Given the description of an element on the screen output the (x, y) to click on. 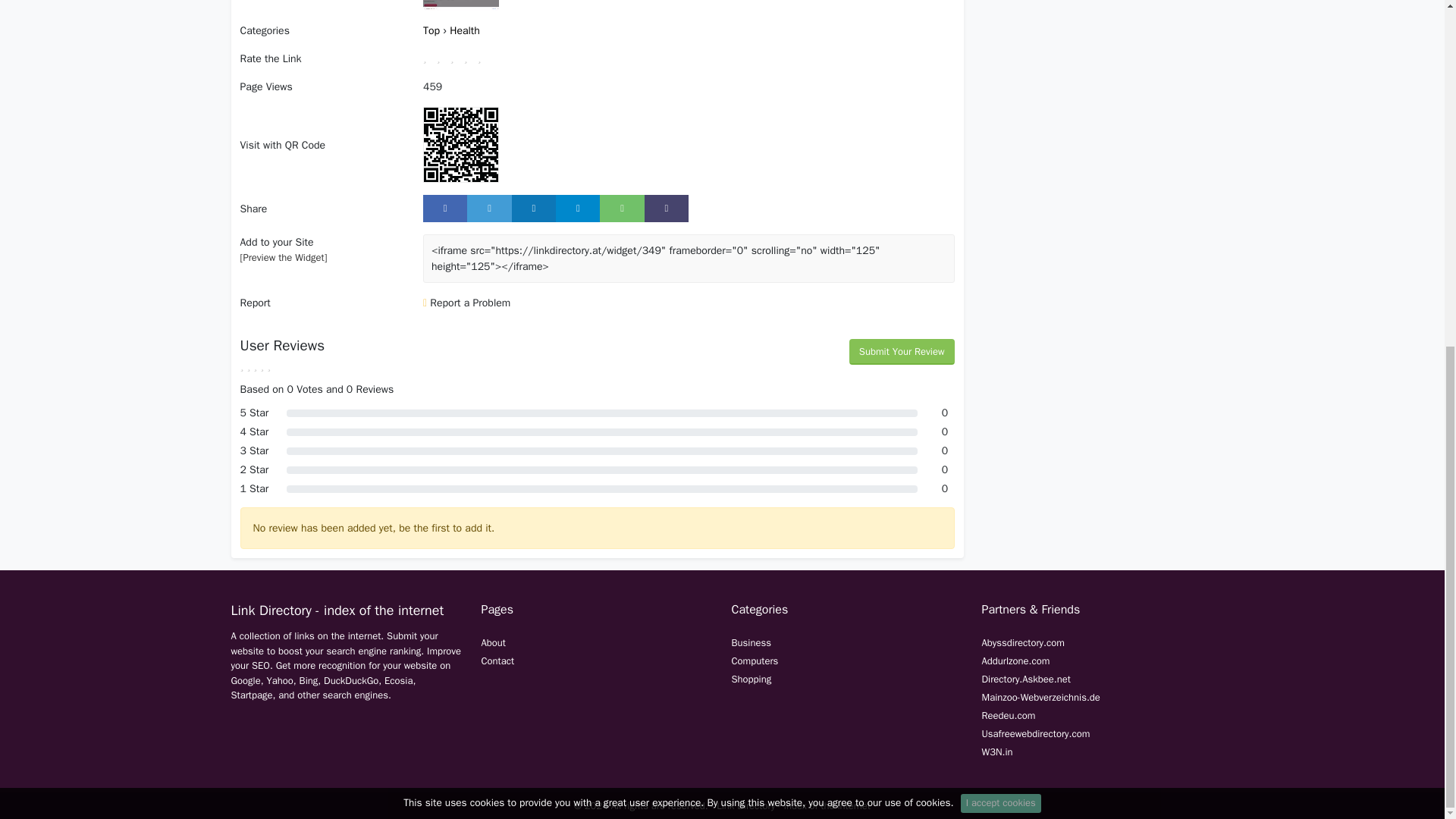
2 (442, 56)
3 (456, 56)
1 (429, 56)
Top (432, 30)
Report a Problem (467, 302)
Health (464, 30)
Submit Your Review (901, 352)
4 (470, 56)
5 (484, 56)
